Given the description of an element on the screen output the (x, y) to click on. 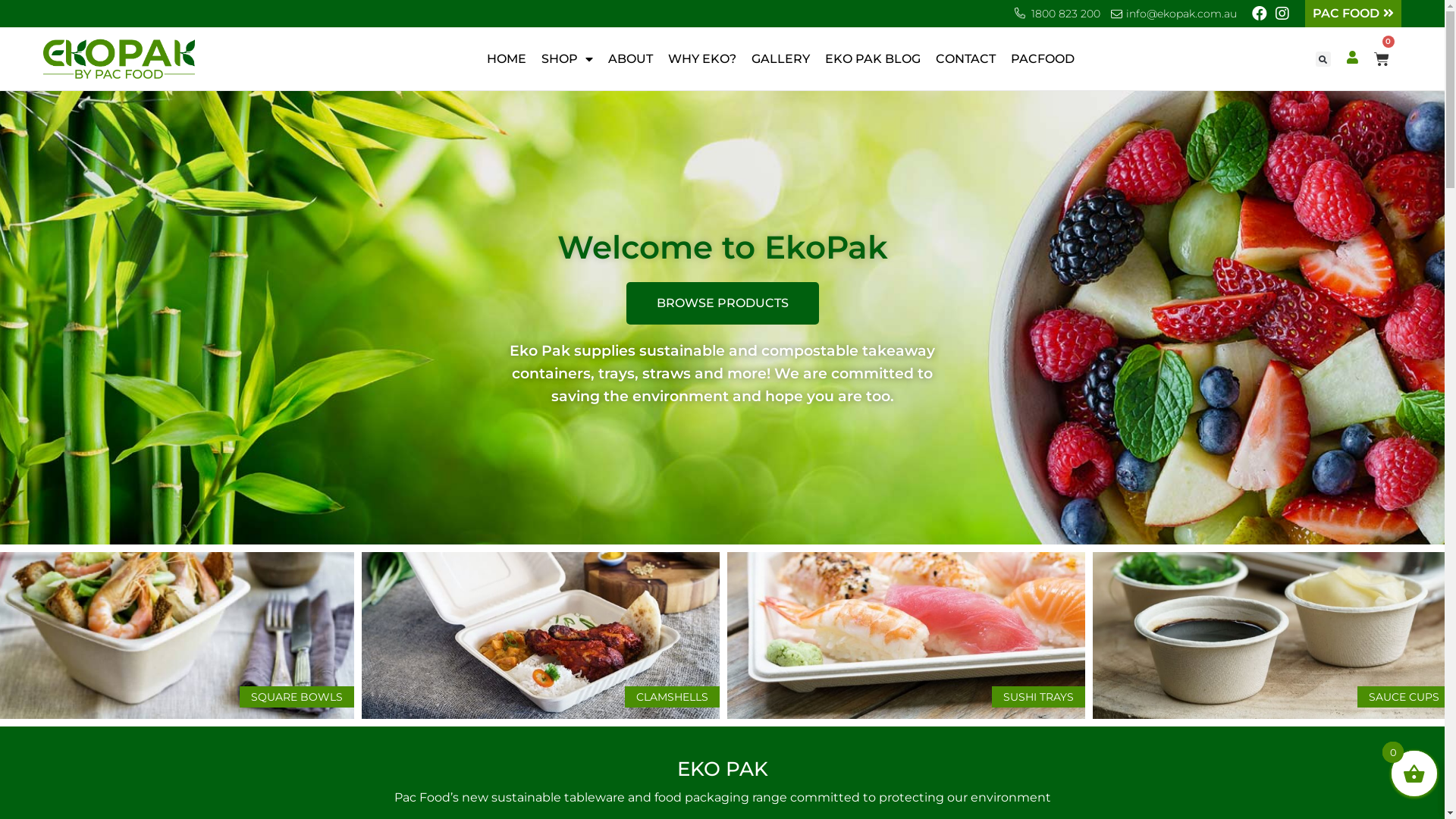
WHY EKO? Element type: text (701, 58)
PAC FOOD Element type: text (1353, 13)
1800 823 200 Element type: text (1065, 13)
CONTACT Element type: text (965, 58)
GALLERY Element type: text (780, 58)
info@ekopak.com.au Element type: text (1181, 13)
BROWSE PRODUCTS Element type: text (722, 303)
HOME Element type: text (506, 58)
EKO PAK BLOG Element type: text (872, 58)
SHOP Element type: text (566, 58)
0 Element type: text (1381, 58)
ABOUT Element type: text (630, 58)
PACFOOD Element type: text (1042, 58)
